Given the description of an element on the screen output the (x, y) to click on. 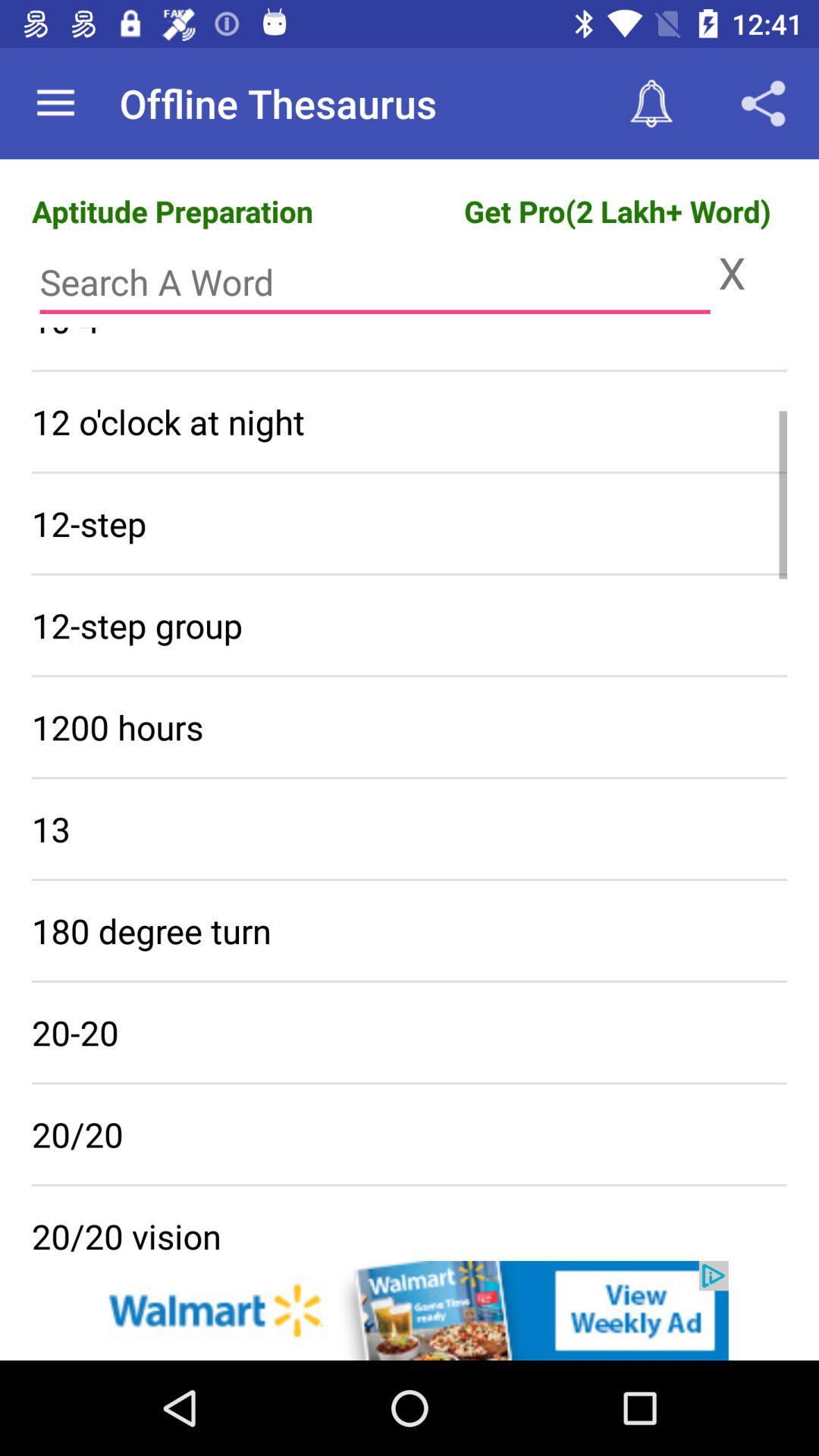
search (374, 282)
